Given the description of an element on the screen output the (x, y) to click on. 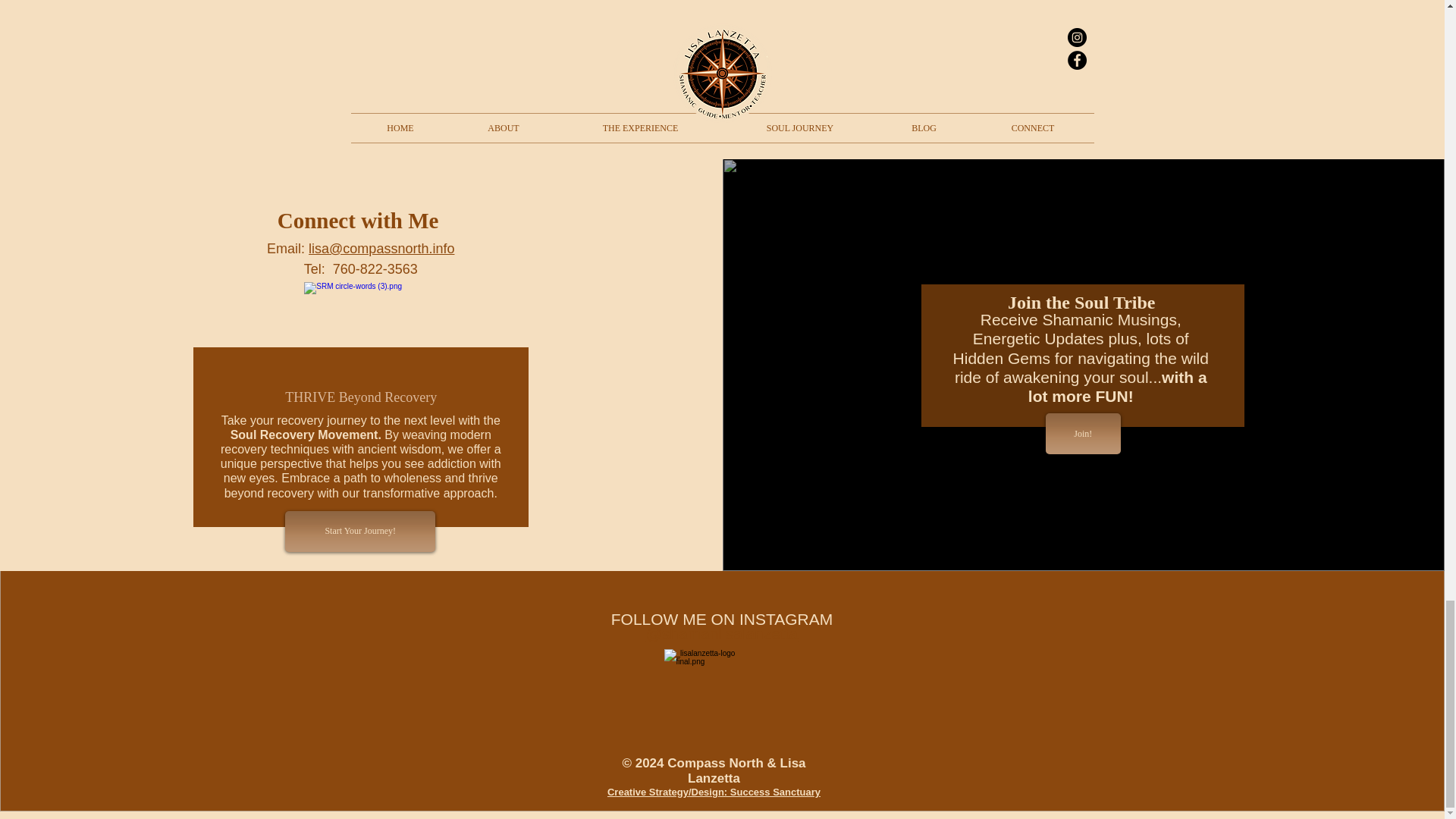
Join! (1083, 433)
Prayer Flags-A Delightful Ceremony for the Air Element (721, 63)
Start Your Journey! (360, 531)
Transform Your Week with Sacred Rituals (476, 63)
Ayni Despacho Ceremony (967, 55)
